Given the description of an element on the screen output the (x, y) to click on. 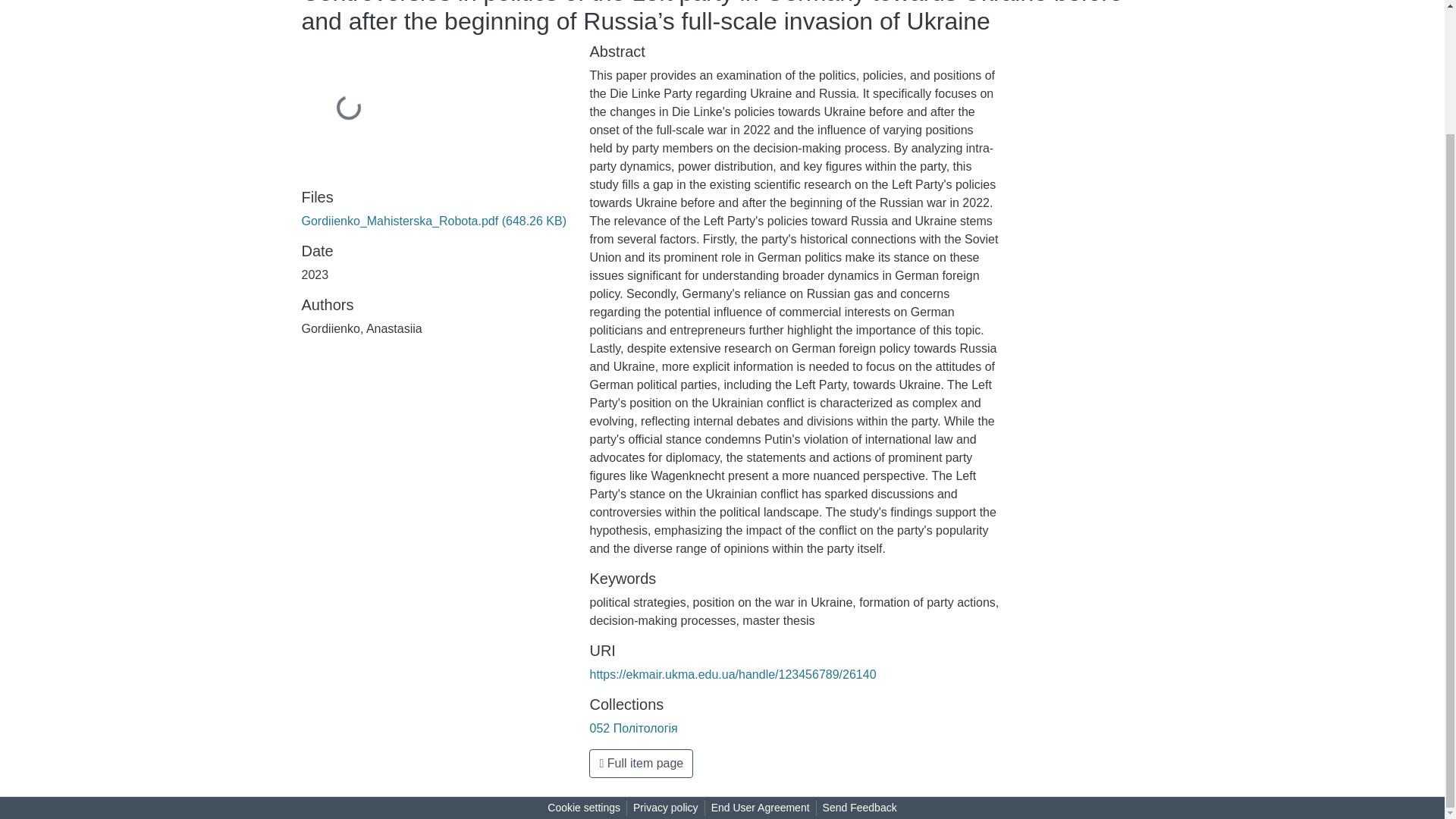
Cookie settings (583, 807)
Full item page (641, 763)
Privacy policy (665, 807)
End User Agreement (759, 807)
Send Feedback (859, 807)
